Given the description of an element on the screen output the (x, y) to click on. 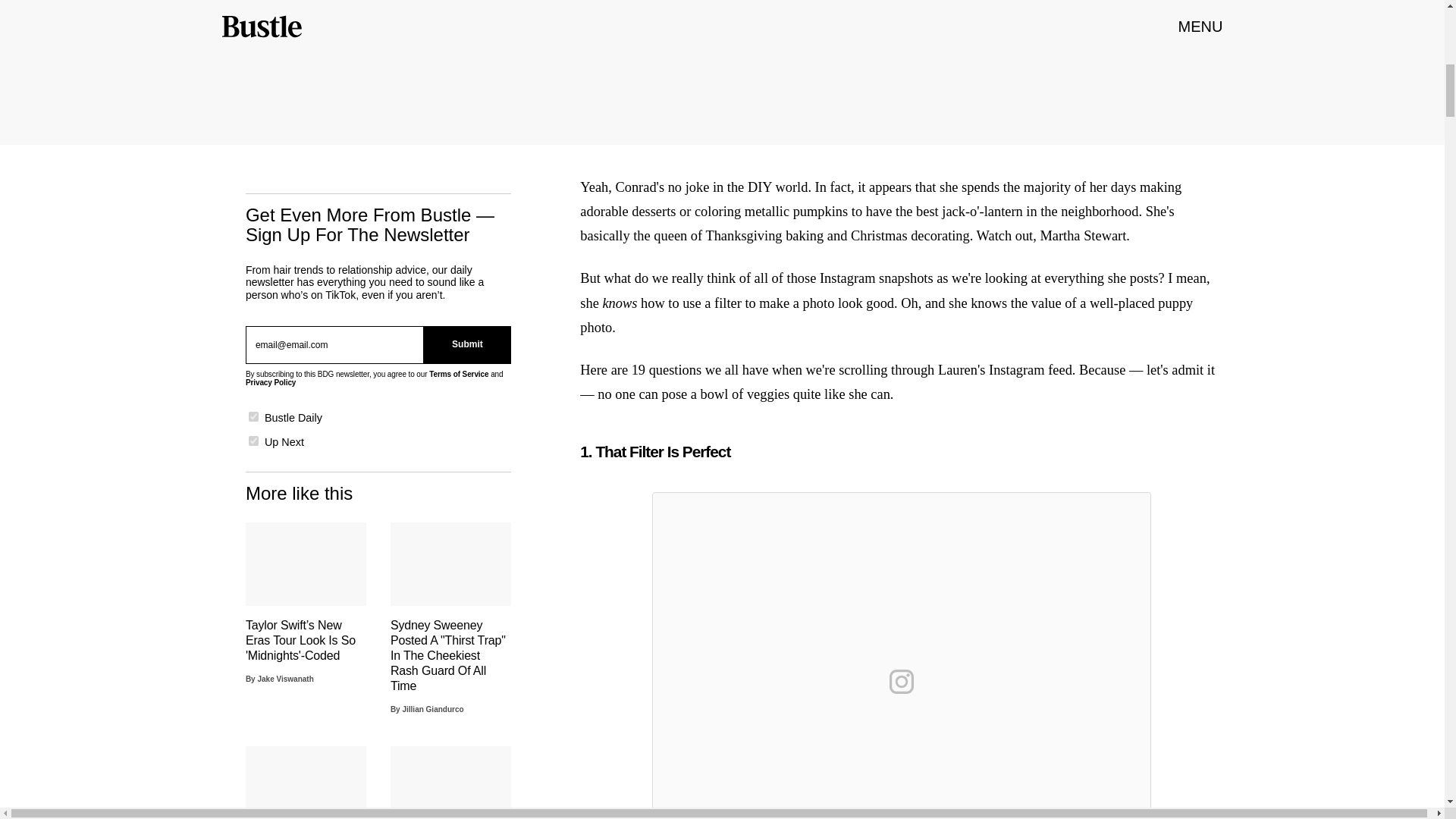
View on Instagram (901, 681)
Submit (467, 344)
Privacy Policy (270, 382)
Terms of Service (458, 374)
